Given the description of an element on the screen output the (x, y) to click on. 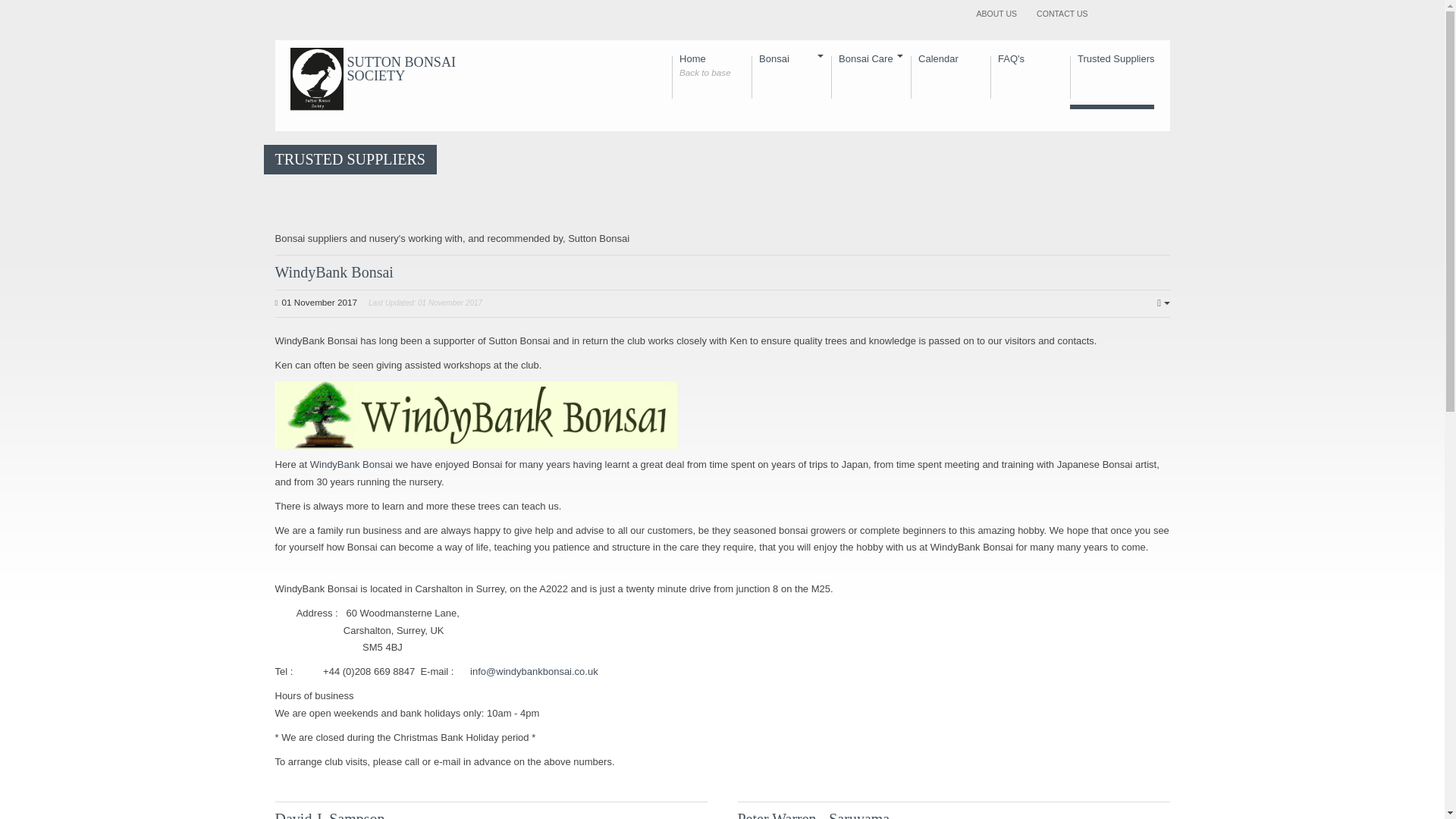
WindyBank Bonsai (351, 464)
David J. Sampson (329, 814)
ABOUT US (997, 13)
WindyBank Bonsai (334, 271)
WindyBank Bonsai (334, 271)
CONTACT US (950, 79)
David J. Sampson (1030, 79)
Peter Warren - Saruyama (1061, 13)
